Given the description of an element on the screen output the (x, y) to click on. 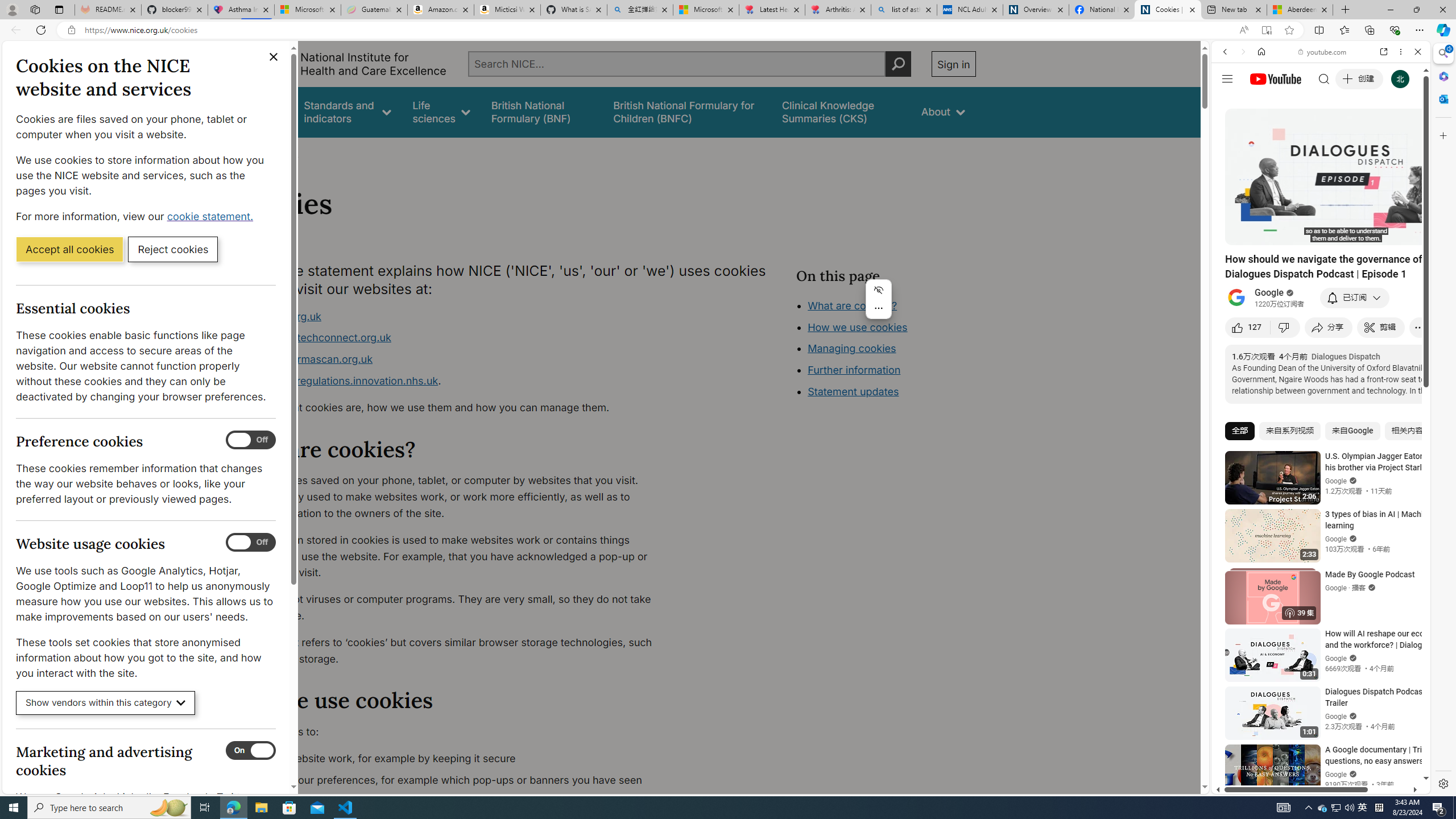
What are cookies? (852, 305)
Statement updates (853, 391)
